Given the description of an element on the screen output the (x, y) to click on. 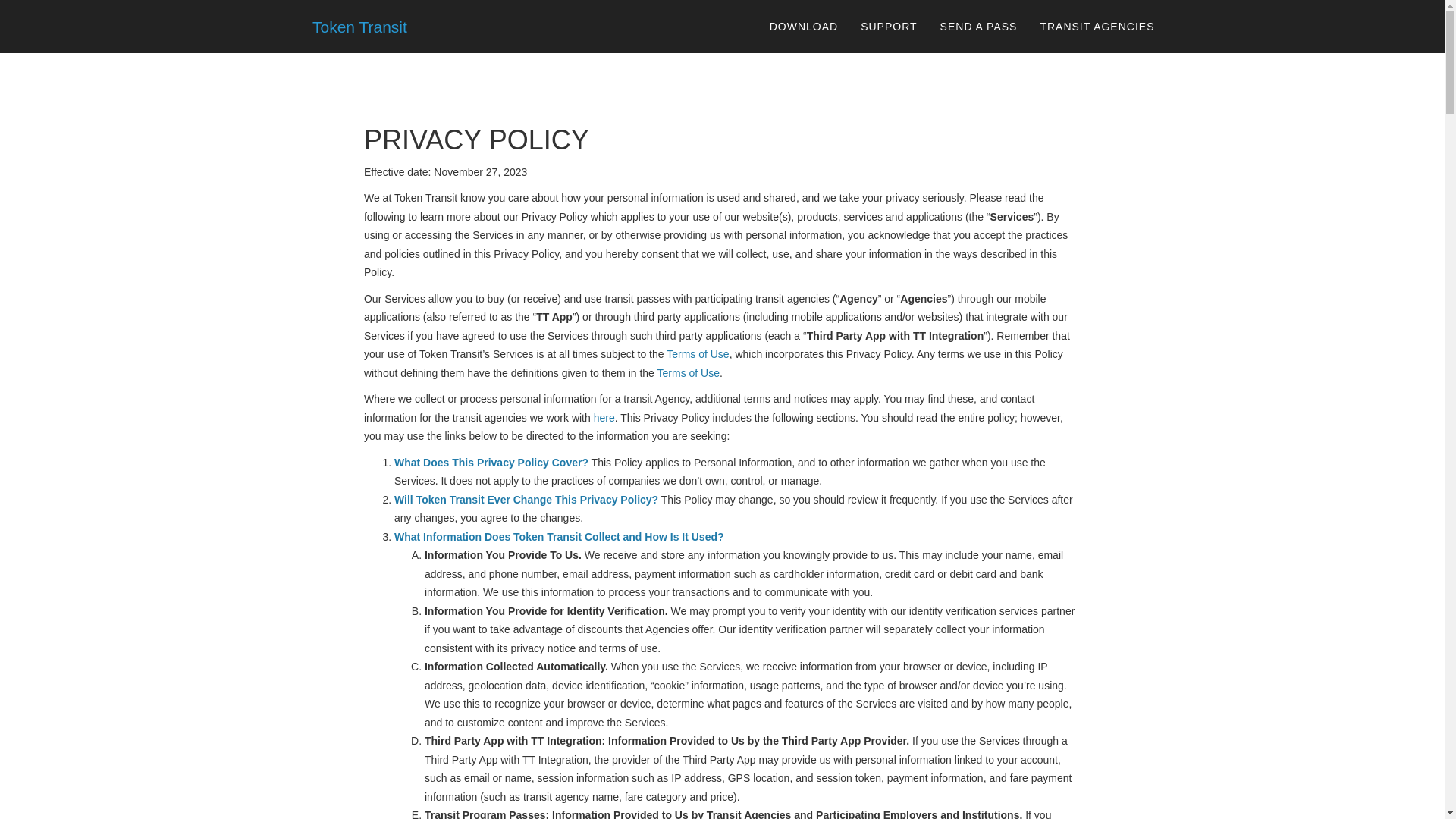
Will Token Transit Ever Change This Privacy Policy? (526, 499)
here (604, 417)
SUPPORT (888, 26)
SEND A PASS (978, 26)
DOWNLOAD (803, 26)
Token Transit (353, 26)
Terms of Use (688, 372)
TRANSIT AGENCIES (1096, 26)
Terms of Use (697, 354)
Token Transit (349, 26)
What Does This Privacy Policy Cover? (491, 462)
